Given the description of an element on the screen output the (x, y) to click on. 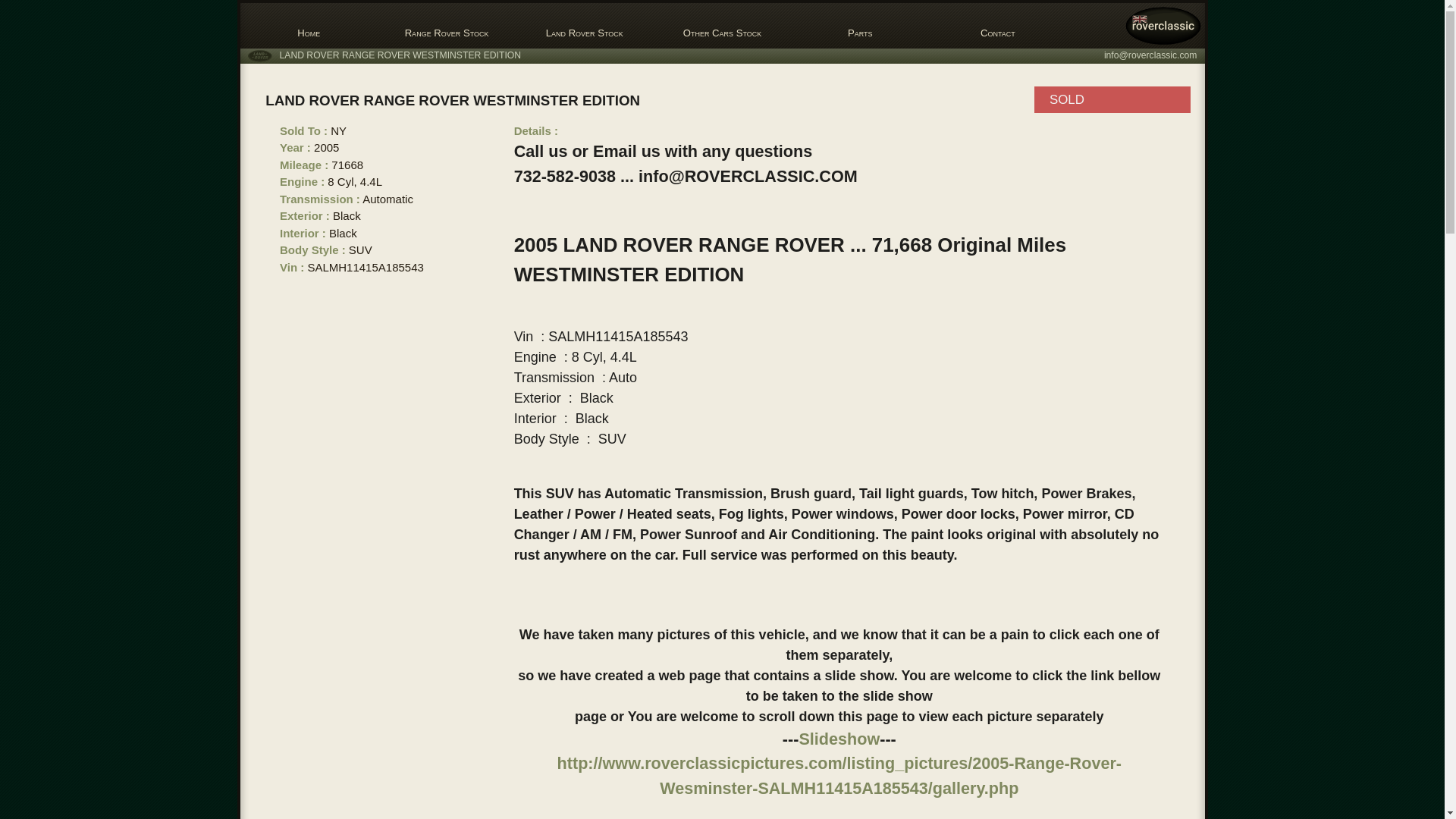
Other Cars Stock (722, 25)
Home (308, 25)
Range Rover Stock (446, 25)
Contact (997, 25)
Land Rover Stock (584, 25)
Land Rover Stock (584, 25)
Rover Classic Homepage (308, 25)
Slideshow (838, 738)
Contact (997, 25)
Other Cars Stock (722, 25)
